Given the description of an element on the screen output the (x, y) to click on. 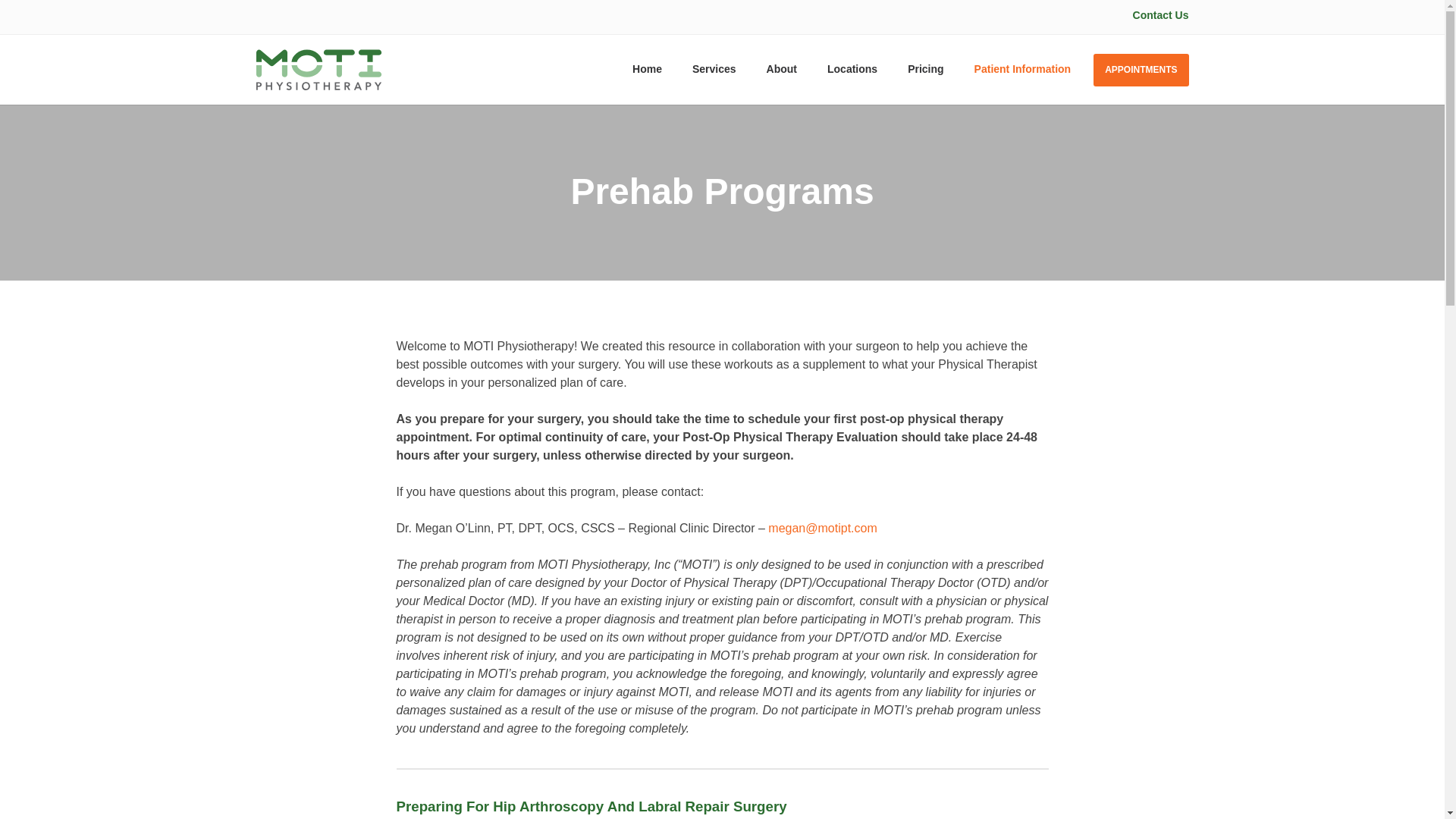
About (781, 69)
Locations (852, 69)
MOTI Physiotherapy (318, 69)
Home (646, 69)
Services (714, 69)
Contact Us (1160, 15)
